Given the description of an element on the screen output the (x, y) to click on. 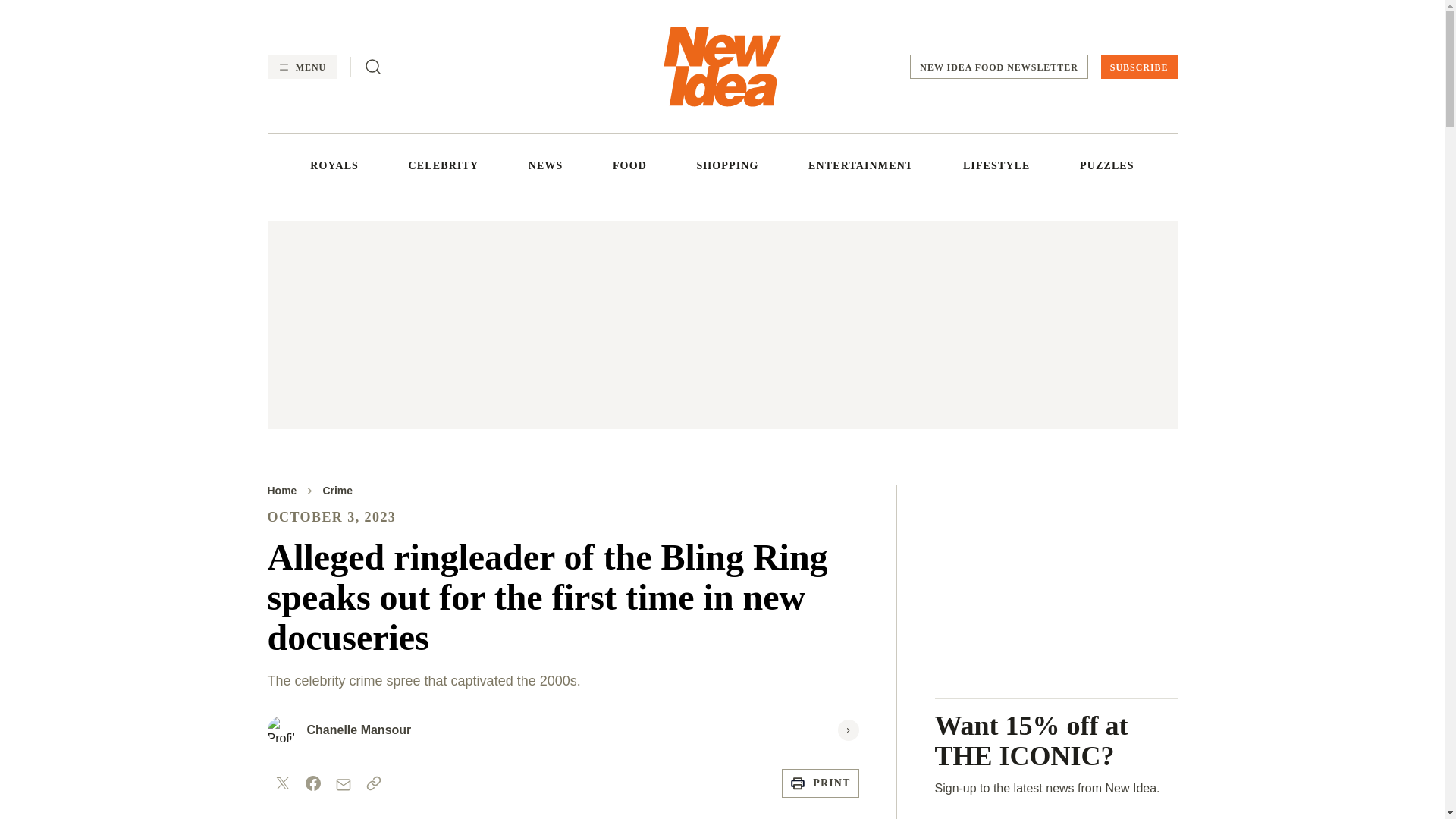
NEW IDEA FOOD NEWSLETTER (998, 66)
MENU (301, 66)
PUZZLES (1107, 165)
SHOPPING (726, 165)
FOOD (629, 165)
ENTERTAINMENT (860, 165)
NEWS (545, 165)
LIFESTYLE (996, 165)
CELEBRITY (444, 165)
SUBSCRIBE (1138, 66)
